Given the description of an element on the screen output the (x, y) to click on. 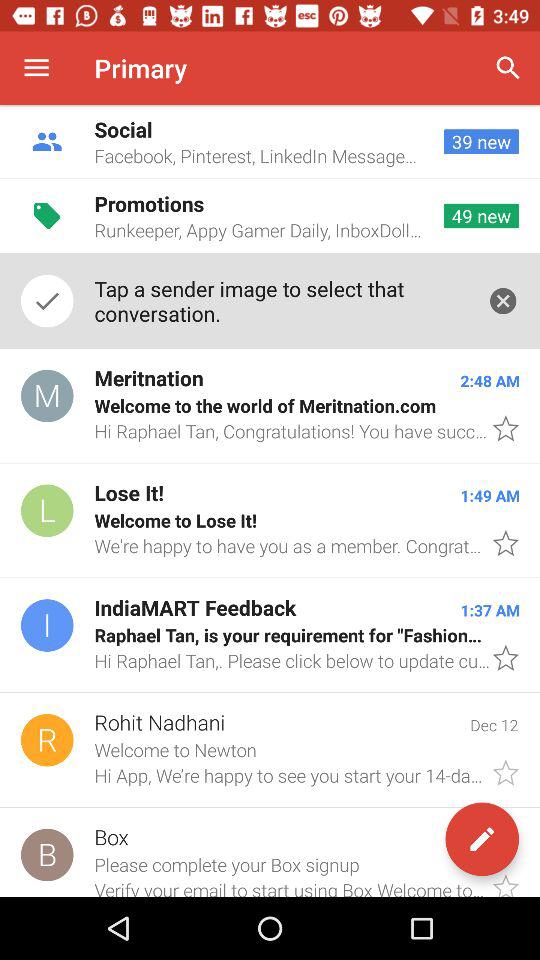
launch tap a sender (280, 300)
